Given the description of an element on the screen output the (x, y) to click on. 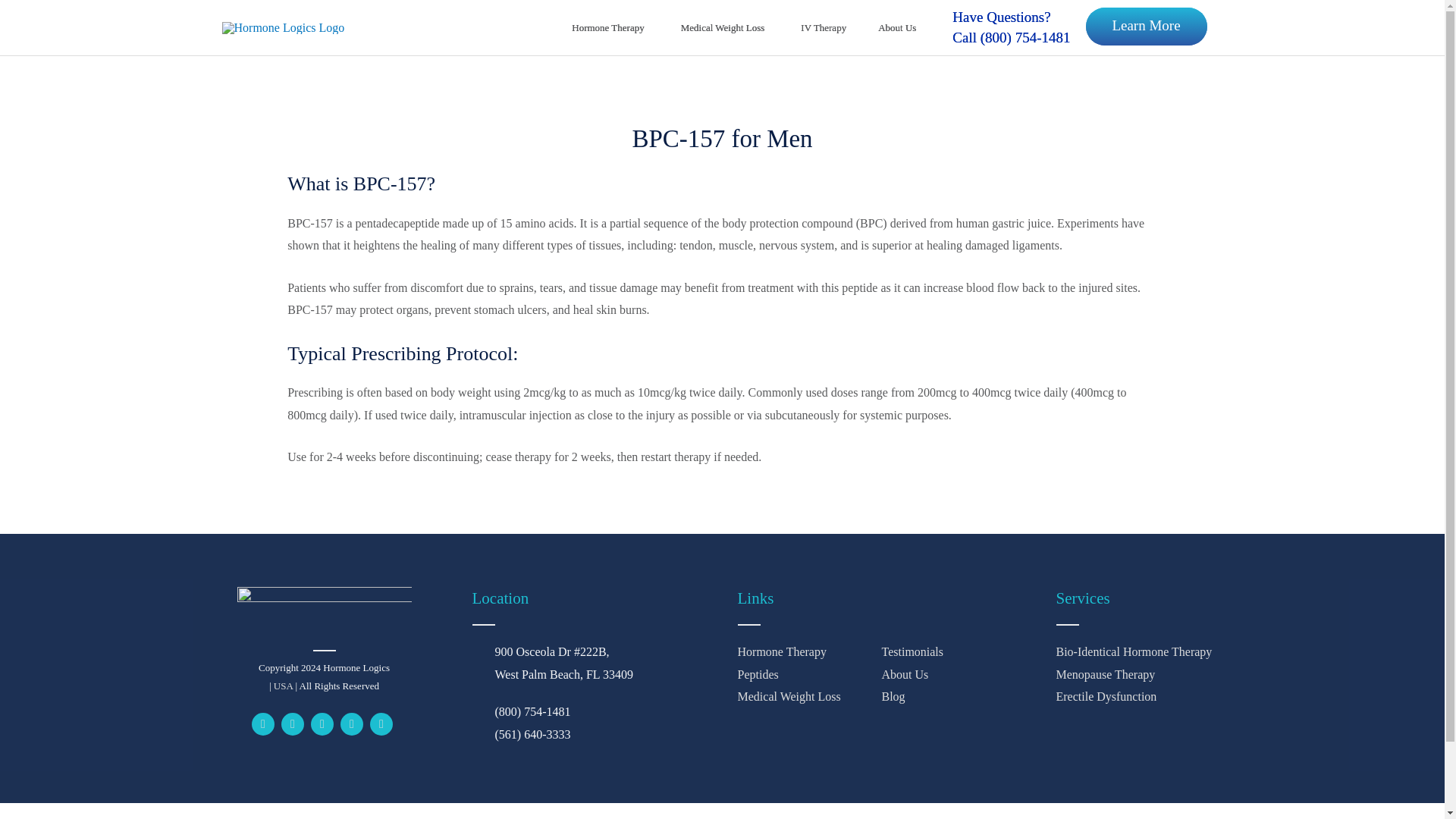
IV Therapy (822, 27)
Learn More (1146, 26)
About Us (898, 27)
Hormone Therapy (609, 27)
Medical Weight Loss (725, 27)
